Given the description of an element on the screen output the (x, y) to click on. 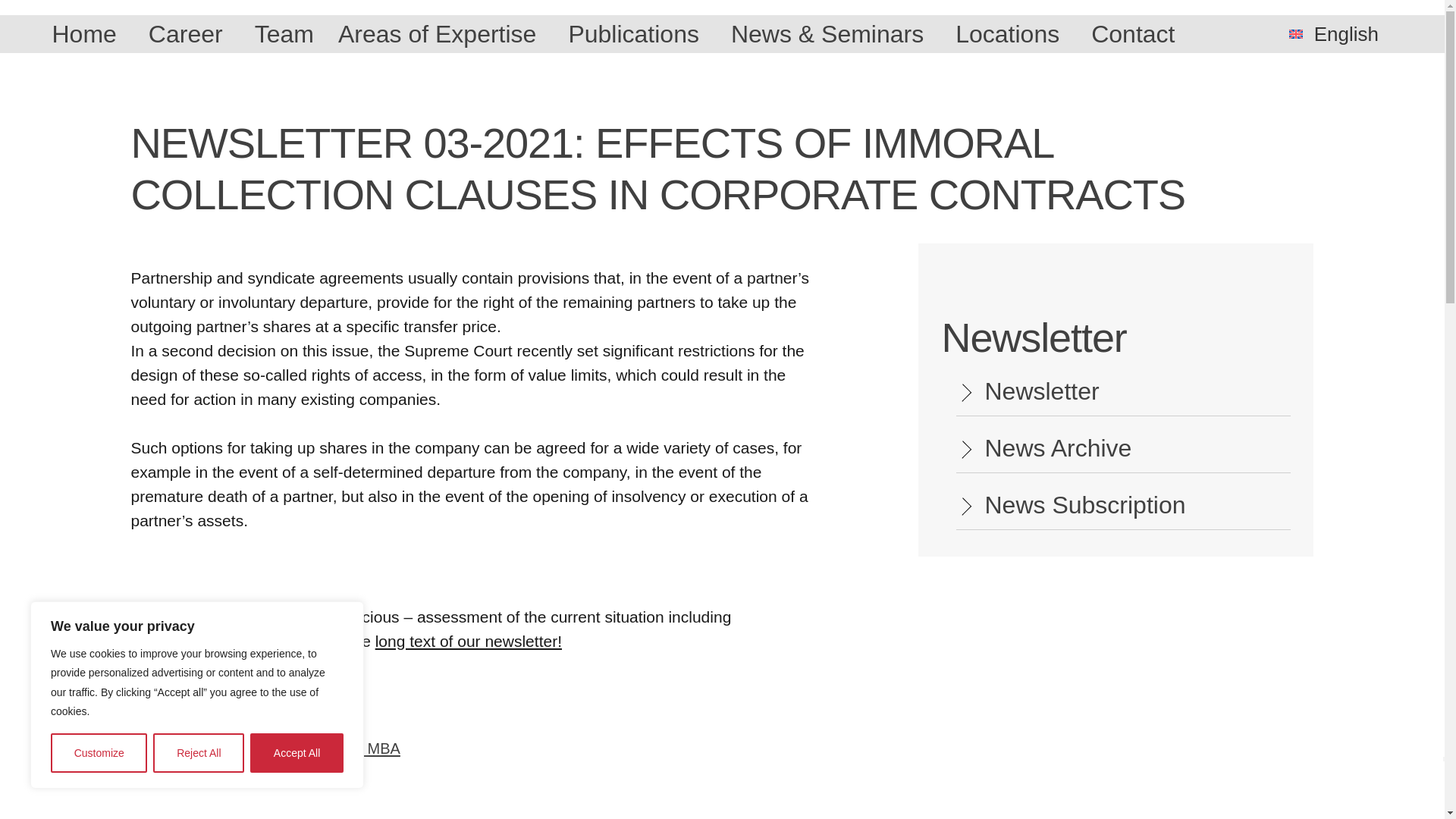
Career (189, 33)
Accept All (296, 753)
Areas of Expertise (441, 33)
Team (284, 33)
English (1339, 33)
Customize (98, 753)
Home (87, 33)
Reject All (198, 753)
